Given the description of an element on the screen output the (x, y) to click on. 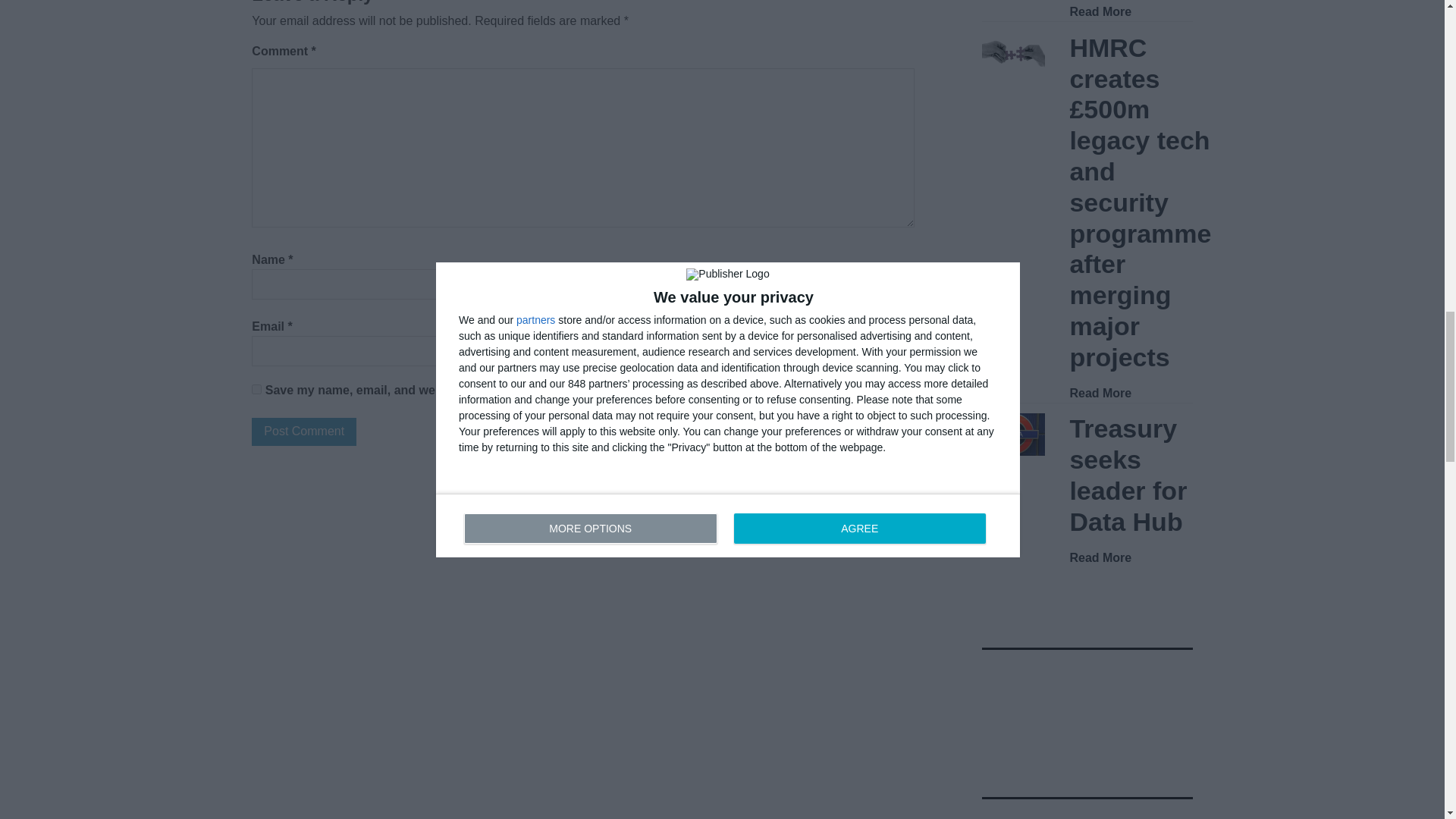
Post Comment (303, 431)
yes (256, 388)
